Given the description of an element on the screen output the (x, y) to click on. 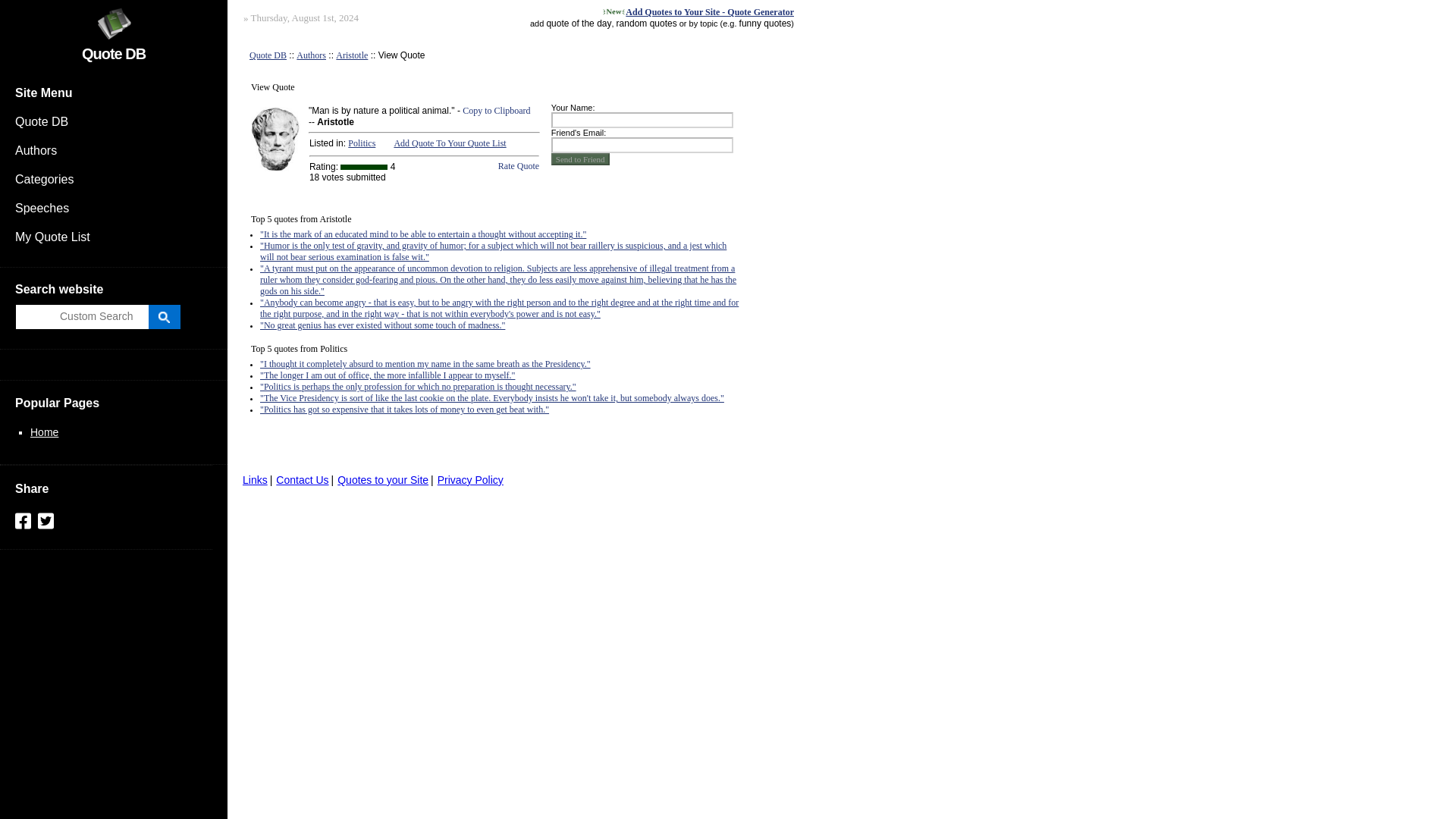
Categories (113, 179)
Aristotle (352, 54)
Quote DB (113, 121)
Add Quote To Your Quote List (449, 143)
Send to Friend (580, 159)
Links (255, 480)
Authors (311, 54)
Quotes to your Site (382, 480)
Authors (311, 54)
funny quotes (765, 23)
random quotes (646, 23)
Contact Us (302, 480)
